Given the description of an element on the screen output the (x, y) to click on. 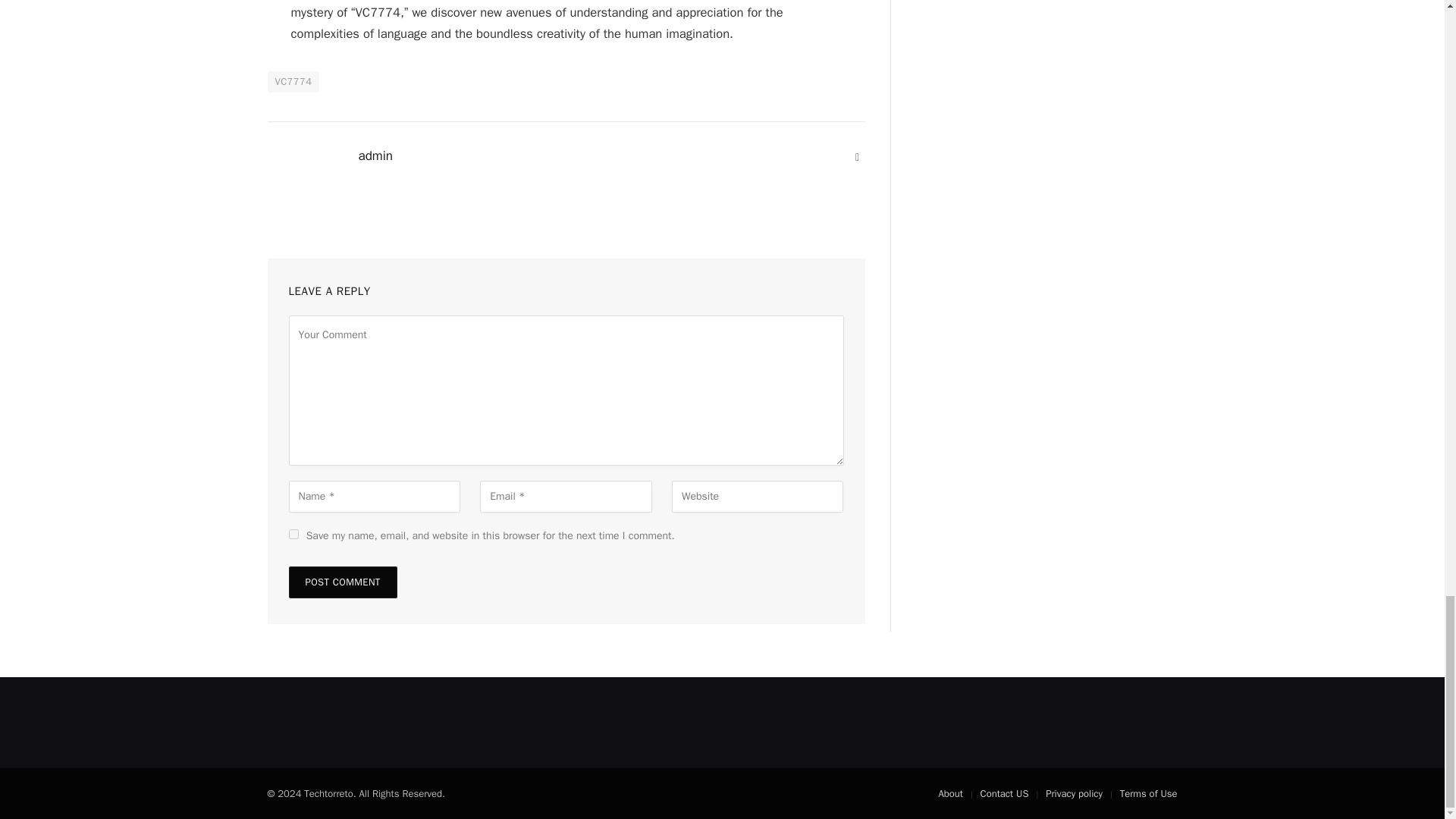
Posts by admin (375, 155)
yes (293, 533)
Post Comment (342, 582)
admin (375, 155)
Website (856, 157)
VC7774 (292, 81)
